Given the description of an element on the screen output the (x, y) to click on. 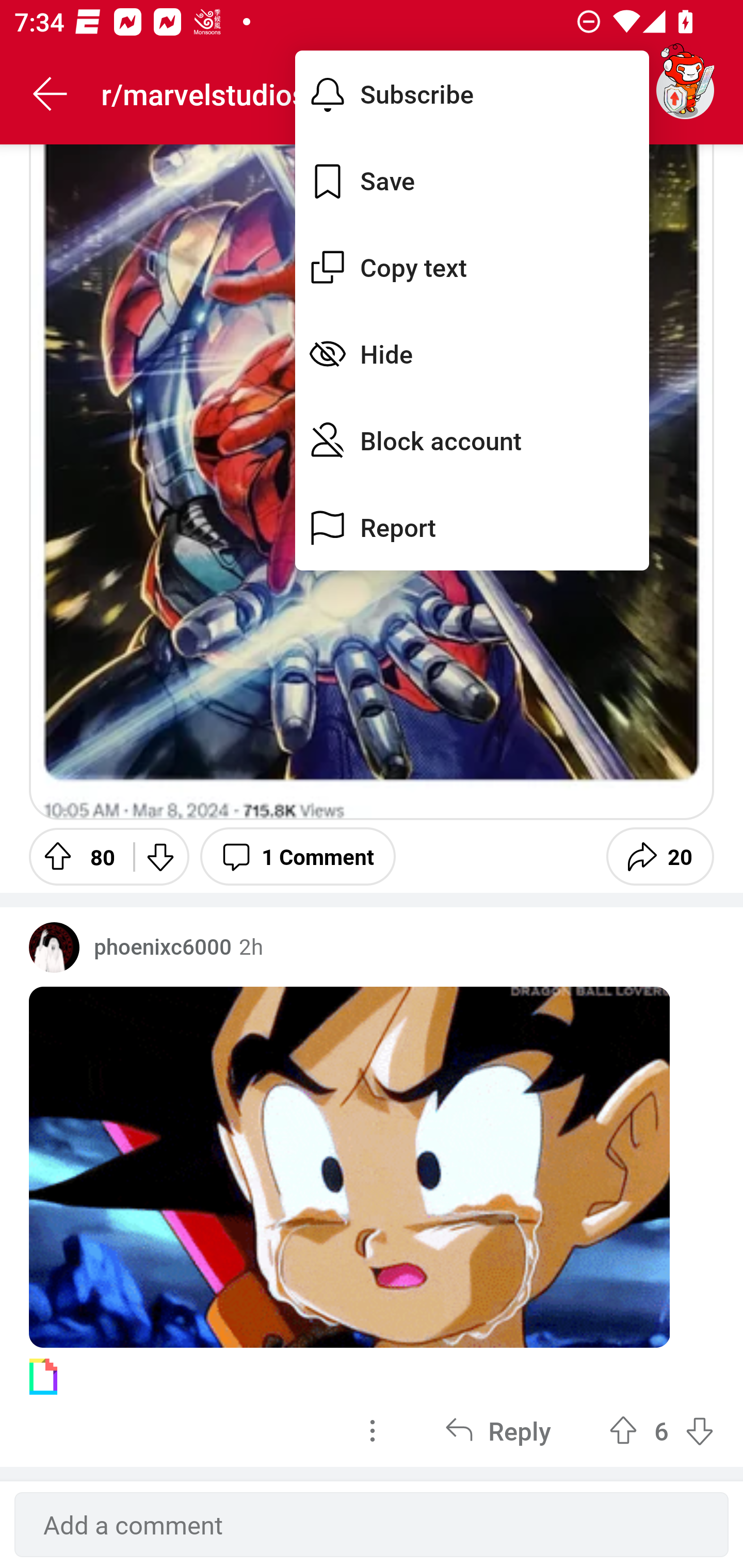
Subscribe (471, 93)
Save (471, 180)
Copy text (471, 267)
Hide (471, 353)
Block account (471, 440)
Report (471, 527)
